Given the description of an element on the screen output the (x, y) to click on. 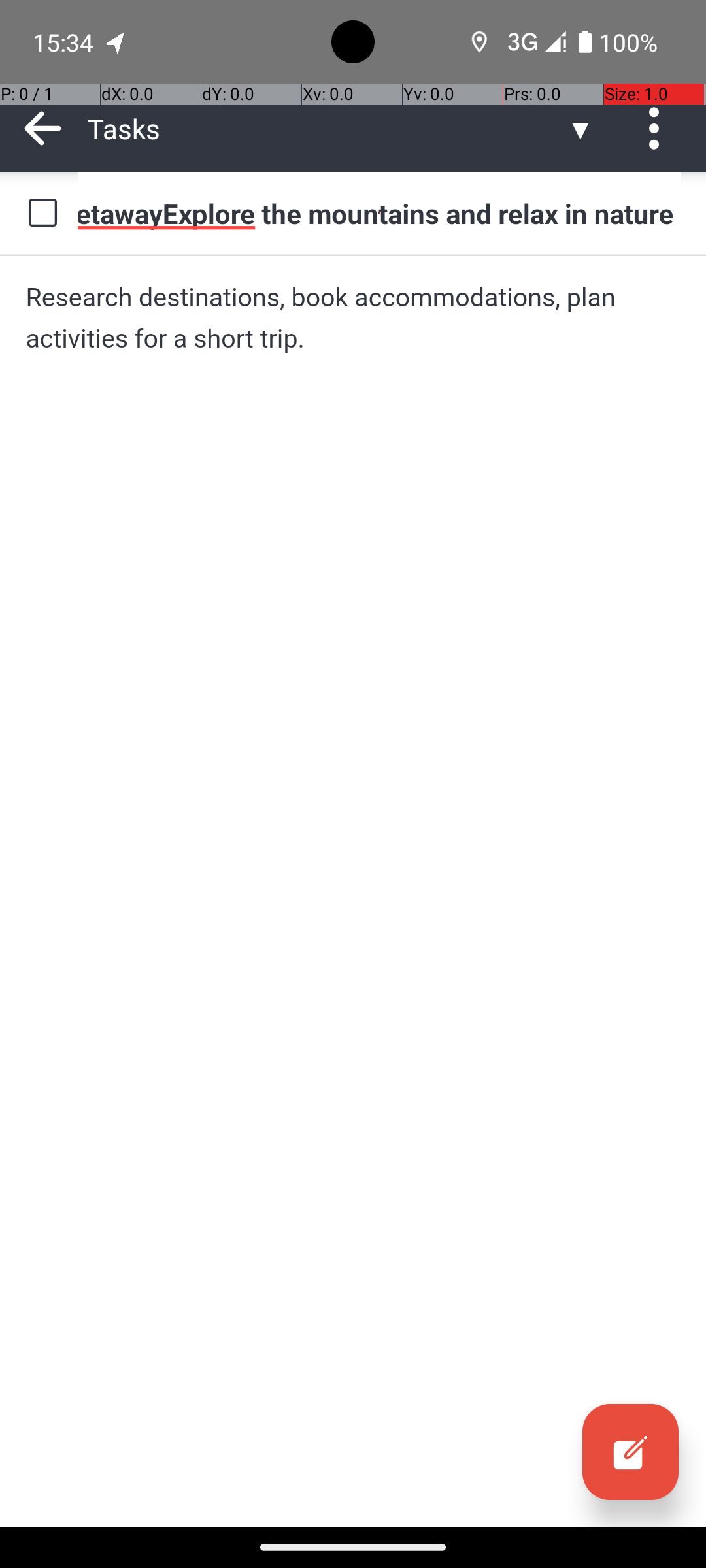
Plan Weekend GetawayExplore the mountains and relax in nature Element type: android.widget.EditText (378, 213)
Tasks Element type: android.widget.TextView (326, 128)
Research destinations, book accommodations, plan activities for a short trip. Element type: android.widget.TextView (352, 317)
